Given the description of an element on the screen output the (x, y) to click on. 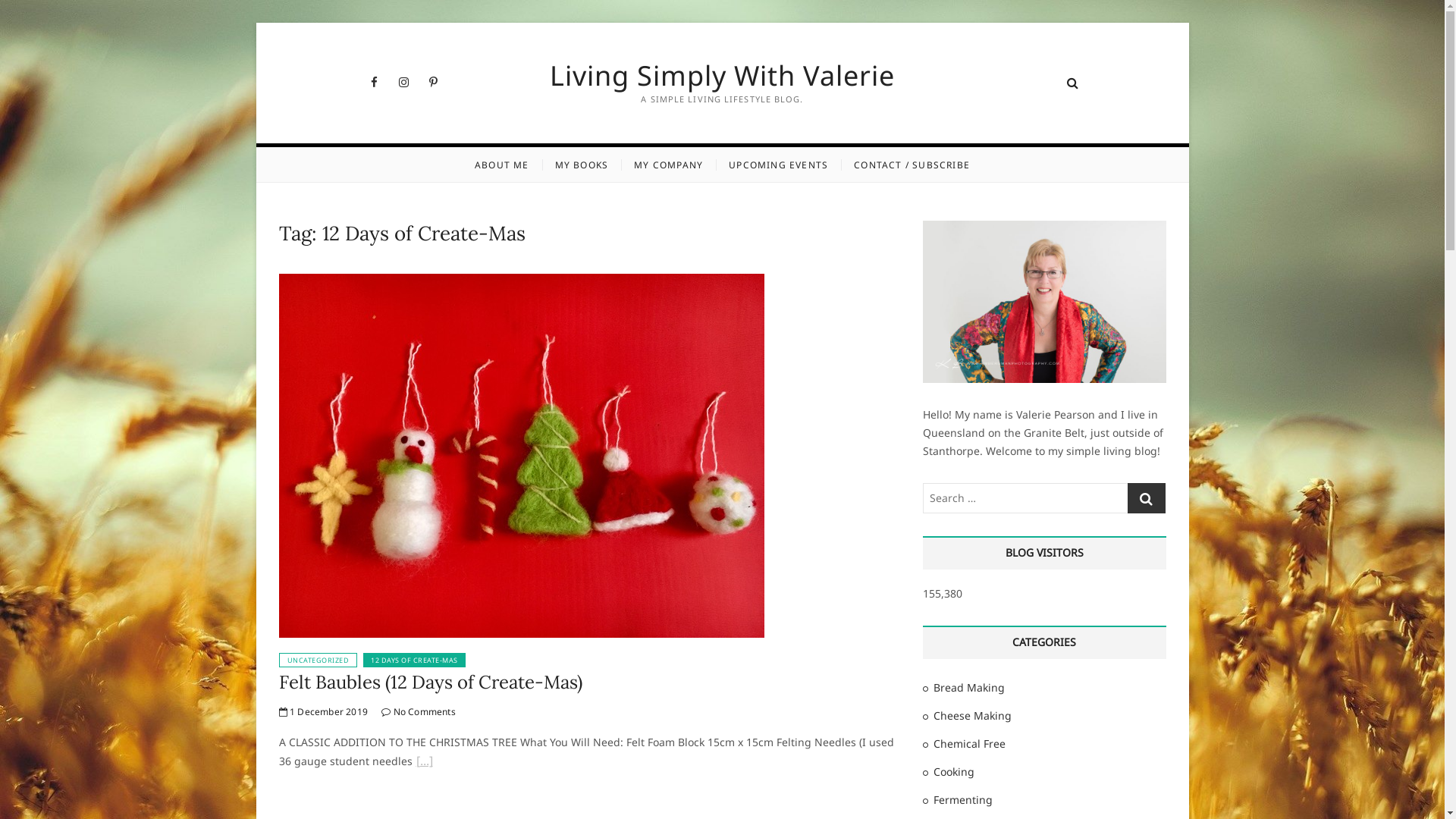
Cheese Making Element type: text (971, 715)
Skip to content Element type: text (254, 21)
CONTACT / SUBSCRIBE Element type: text (911, 164)
Living Simply With Valerie Element type: text (721, 75)
Cooking Element type: text (952, 771)
1 December 2019 Element type: text (323, 711)
UNCATEGORIZED Element type: text (318, 659)
Fermenting Element type: text (961, 799)
Felt Baubles (12 Days of Create-Mas) Element type: text (430, 681)
No Comments Element type: text (418, 711)
Bread Making Element type: text (968, 687)
Instagram Element type: text (402, 82)
ABOUT ME Element type: text (501, 164)
Chemical Free Element type: text (968, 743)
12 DAYS OF CREATE-MAS Element type: text (414, 659)
Facebook Element type: text (373, 82)
MY BOOKS Element type: text (581, 164)
Pinterest Element type: text (433, 82)
Felt Baubles (12 Days of Create-Mas) Element type: hover (521, 282)
UPCOMING EVENTS Element type: text (778, 164)
MY COMPANY Element type: text (668, 164)
